Given the description of an element on the screen output the (x, y) to click on. 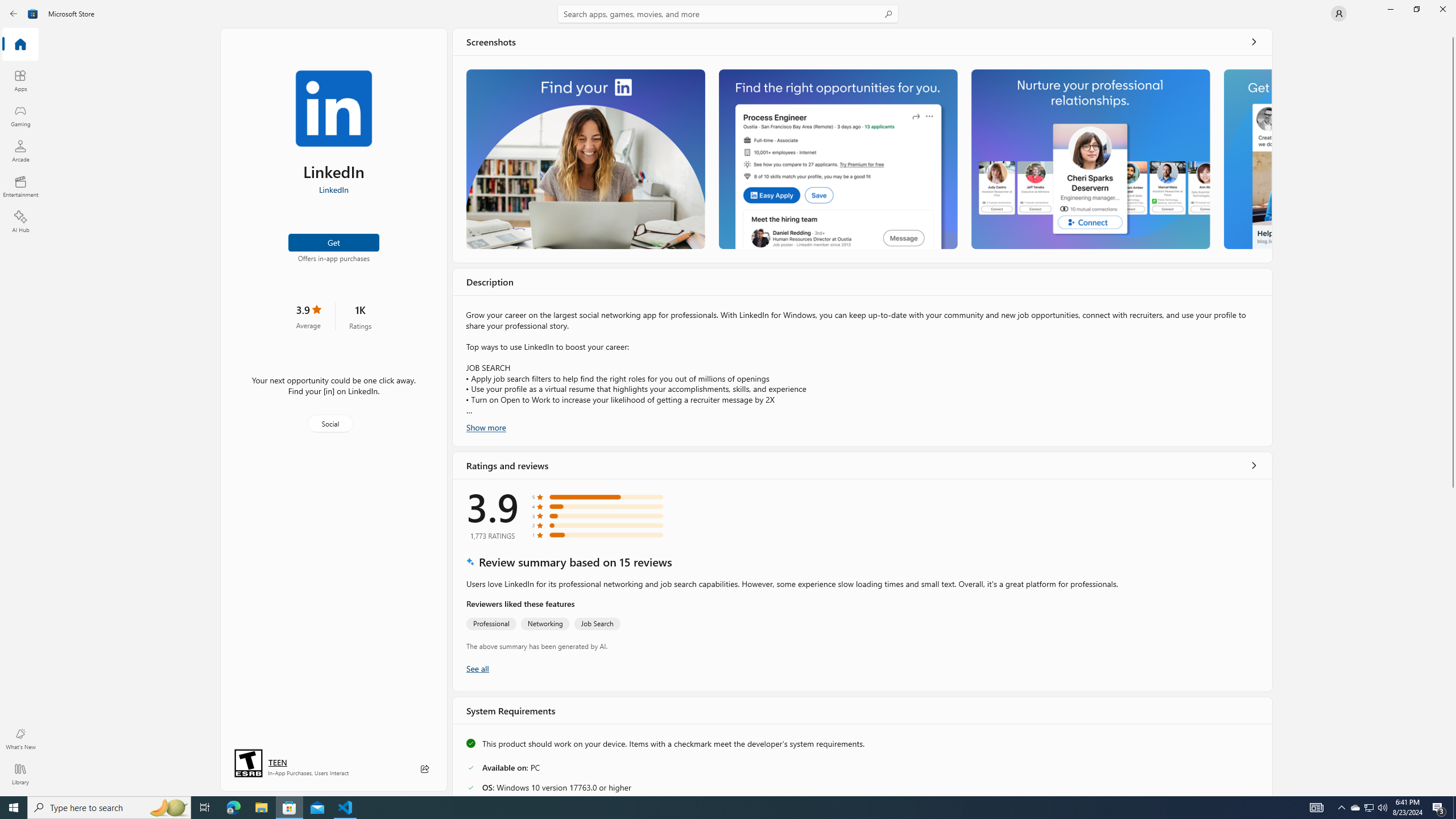
Screenshot 2 (836, 158)
Vertical (1452, 412)
Screenshot 3 (1089, 158)
